Given the description of an element on the screen output the (x, y) to click on. 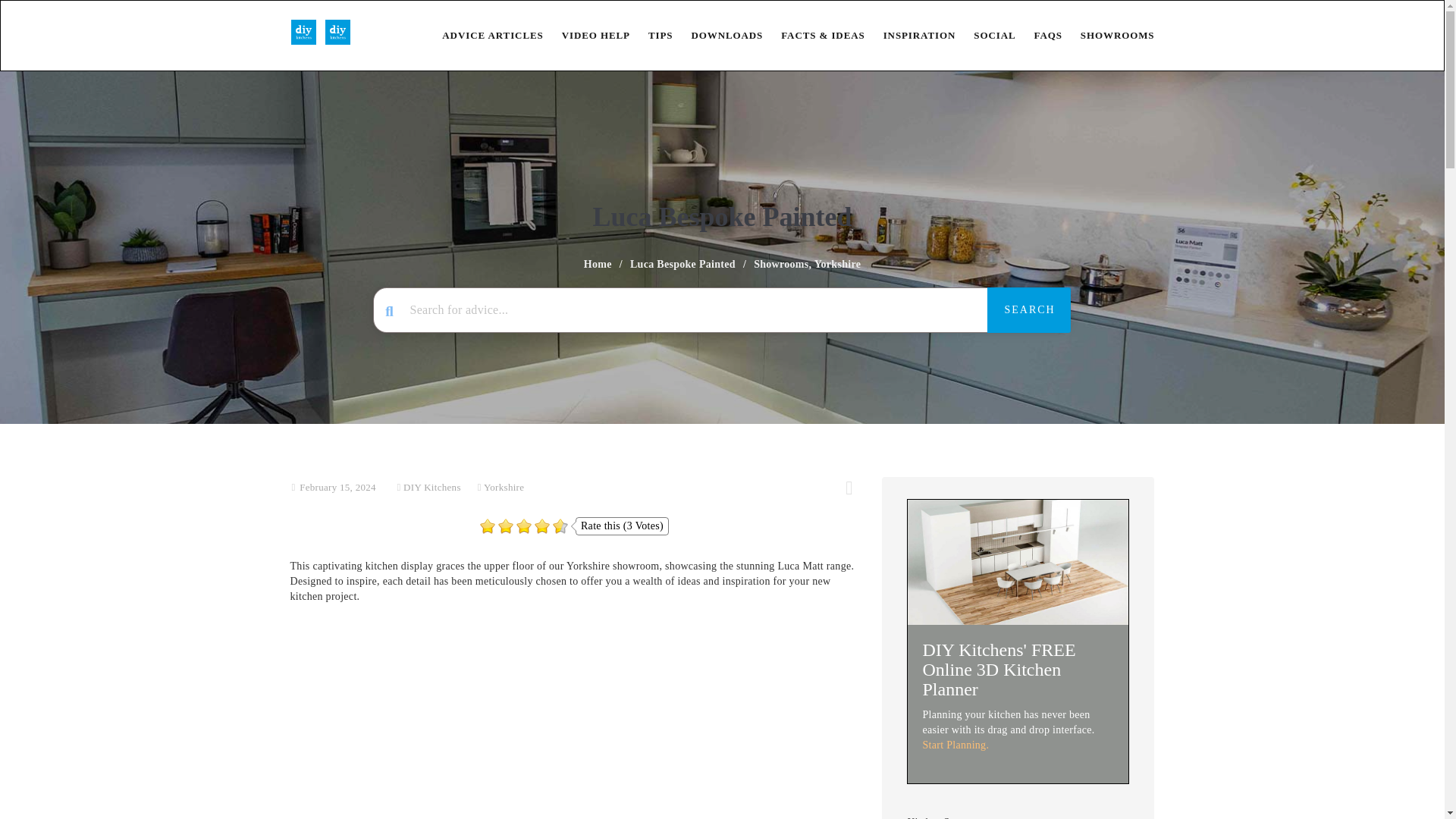
Home (597, 264)
Yorkshire (837, 264)
Yorkshire (503, 487)
Search (1028, 309)
DOWNLOADS (717, 35)
VIDEO HELP (586, 35)
February 15, 2024 (336, 487)
DIY Kitchens (432, 487)
Online Kitchen Planner (1017, 561)
Search (1028, 309)
INSPIRATION (910, 35)
SHOWROOMS (1108, 35)
Luca Bespoke Painted (682, 264)
ADVICE ARTICLES (483, 35)
Showrooms (781, 264)
